Given the description of an element on the screen output the (x, y) to click on. 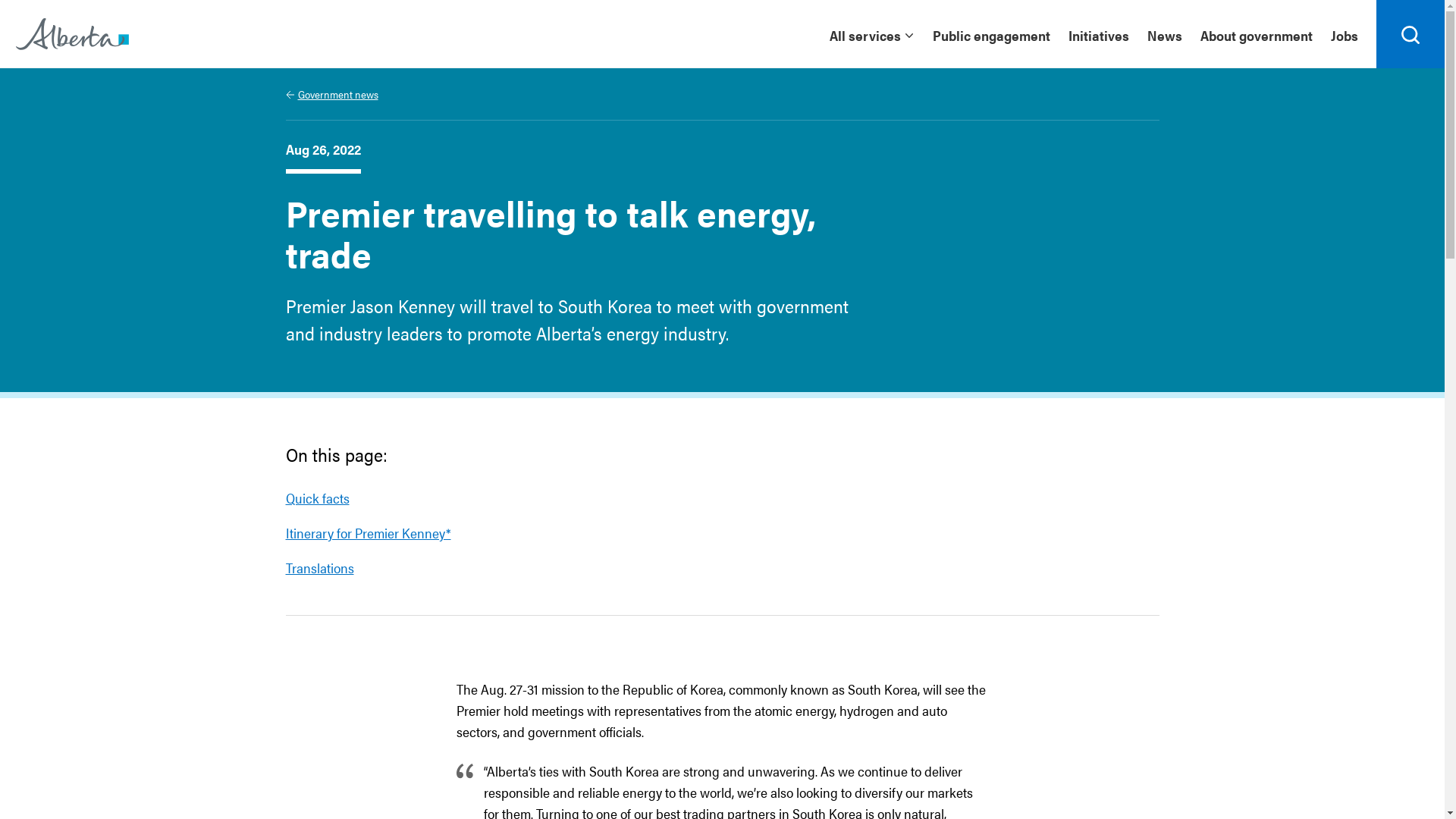
Jobs Element type: text (1348, 34)
Initiatives Element type: text (1098, 34)
Translations Element type: text (319, 567)
Search Element type: text (1410, 34)
All services Element type: text (870, 34)
About government Element type: text (1256, 34)
News Element type: text (1164, 34)
Public engagement Element type: text (991, 34)
Government news Element type: text (331, 93)
Itinerary for Premier Kenney* Element type: text (367, 532)
Quick facts Element type: text (316, 497)
